Given the description of an element on the screen output the (x, y) to click on. 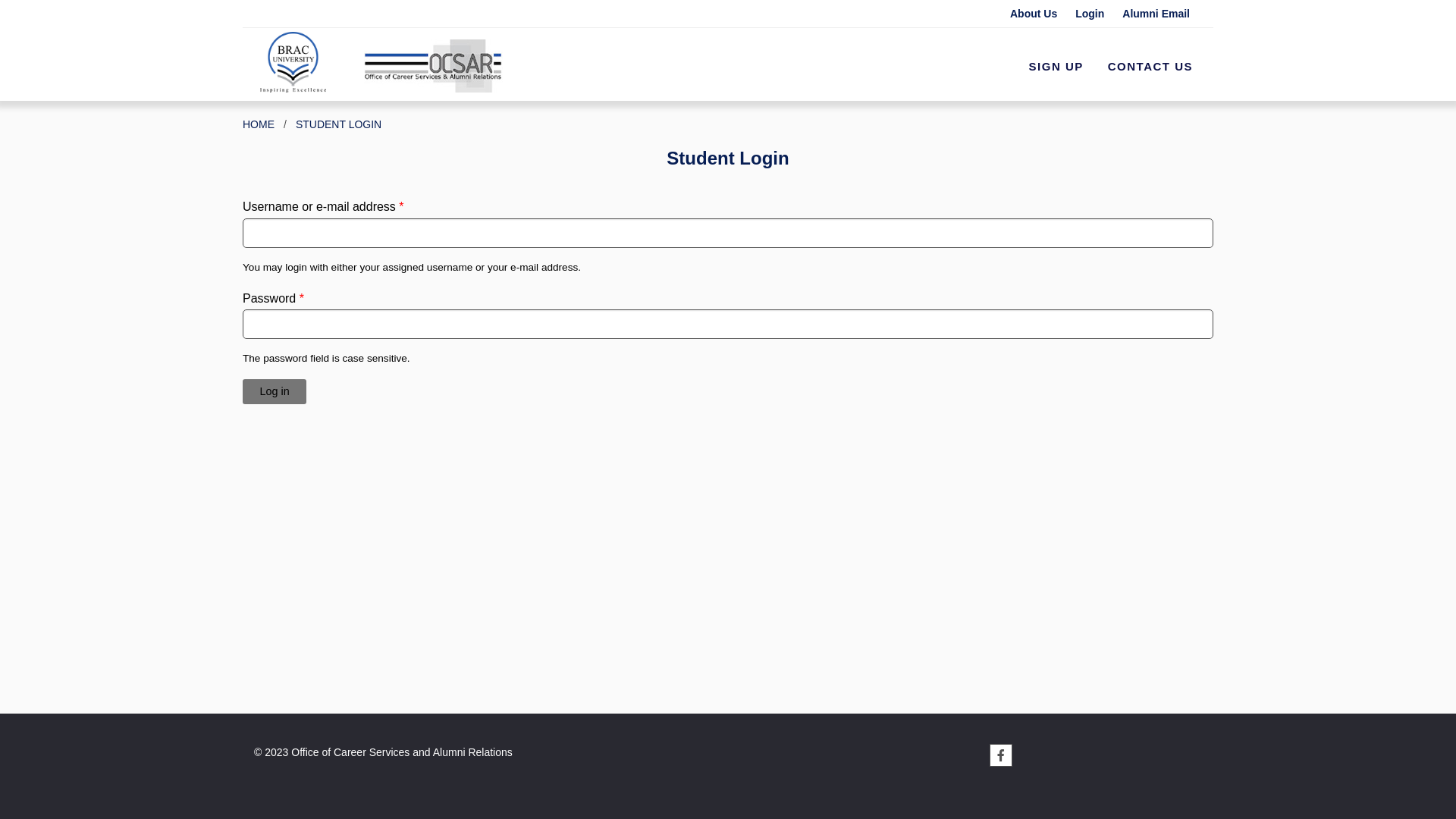
Log in Element type: text (274, 391)
CONTACT US Element type: text (1149, 66)
STUDENT LOGIN Element type: text (338, 124)
Skip to main content Element type: text (54, 0)
About Us Element type: text (1039, 13)
Login Element type: text (1095, 13)
Alumni Email Element type: text (1161, 13)
HOME Element type: text (258, 124)
SIGN UP Element type: text (1056, 66)
